Given the description of an element on the screen output the (x, y) to click on. 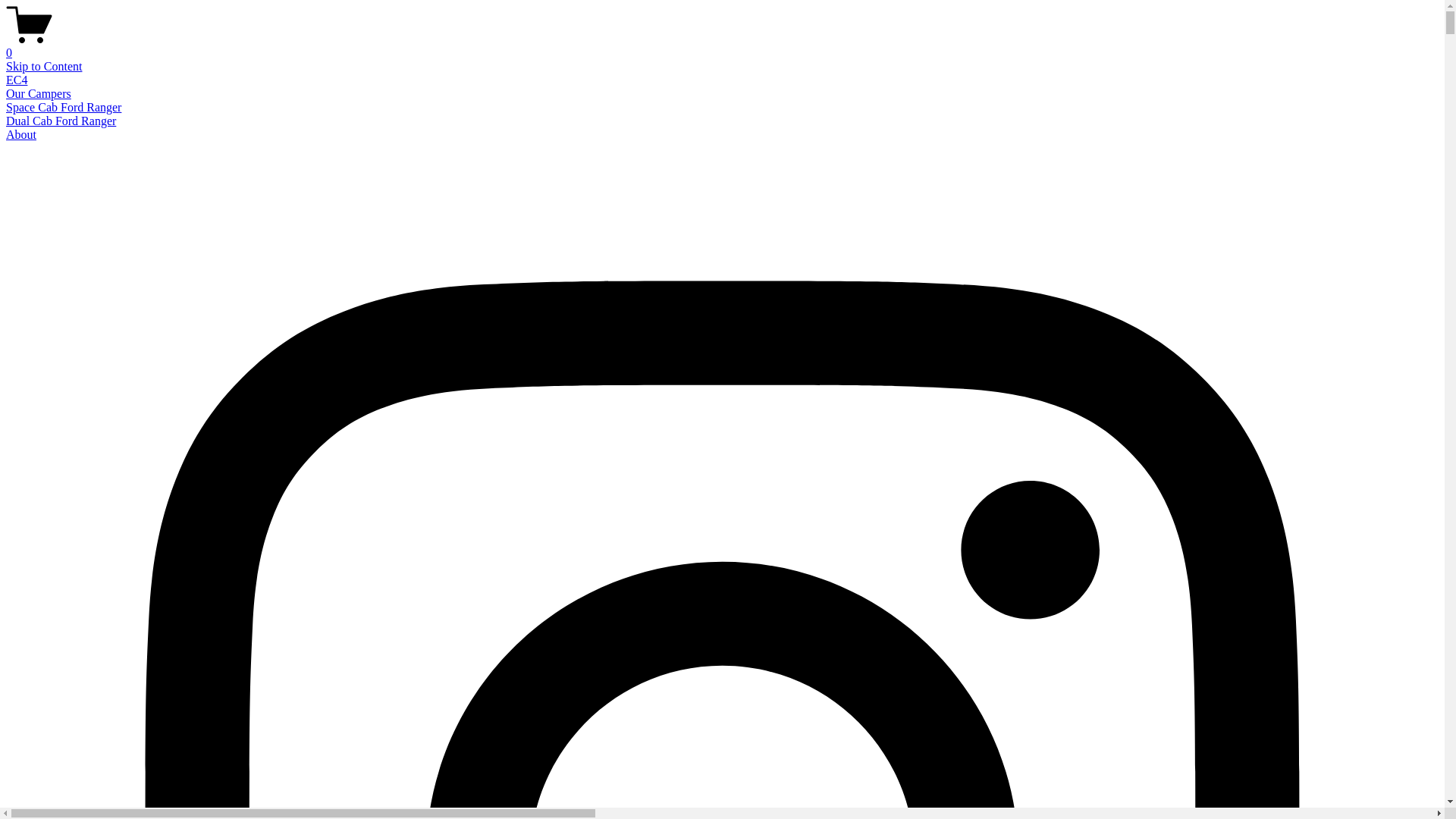
Dual Cab Ford Ranger Element type: text (61, 120)
0 Element type: text (722, 45)
Space Cab Ford Ranger Element type: text (63, 106)
Our Campers Element type: text (38, 93)
EC4 Element type: text (16, 79)
About Element type: text (21, 134)
Skip to Content Element type: text (43, 65)
